Given the description of an element on the screen output the (x, y) to click on. 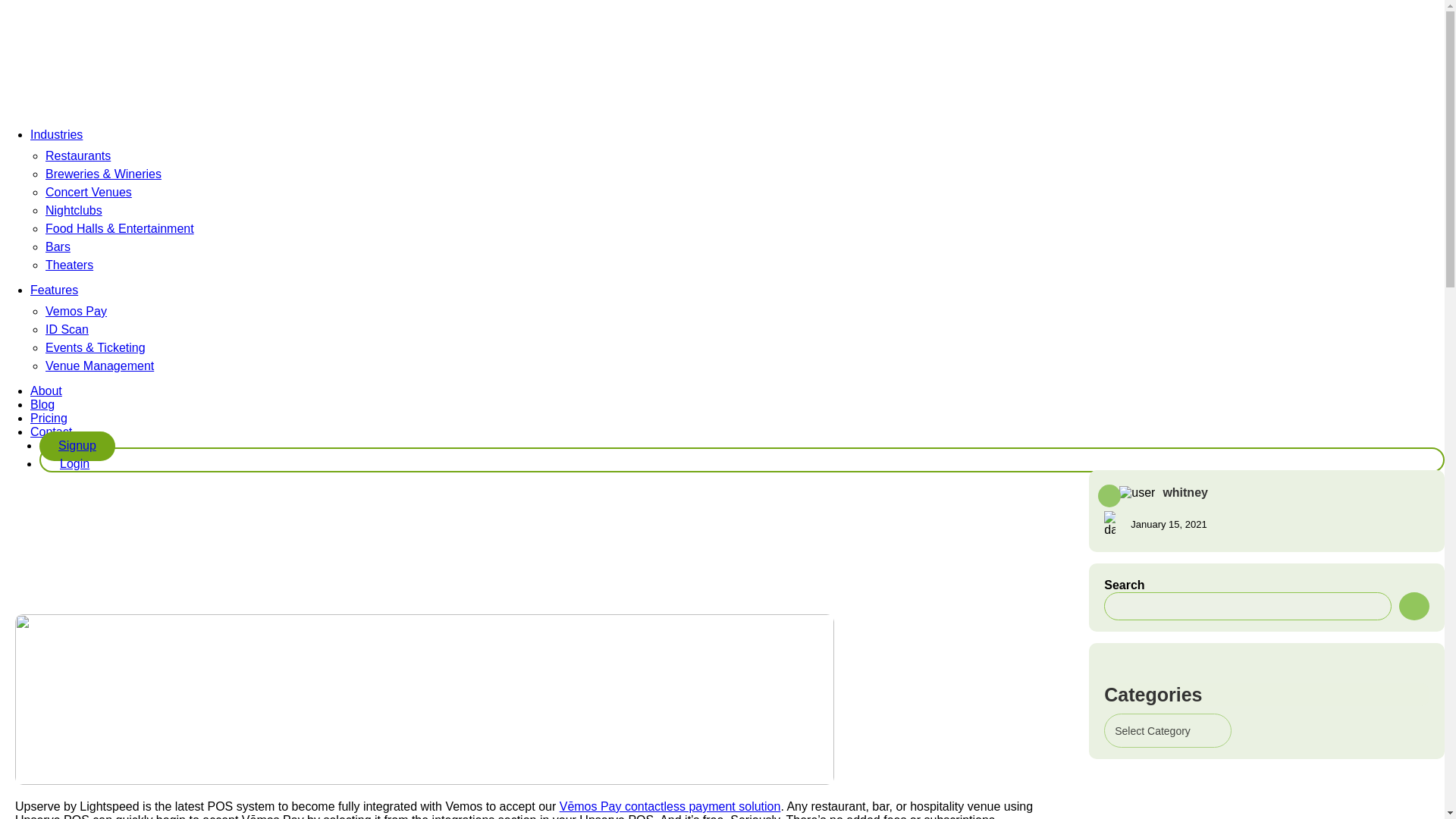
Restaurants (77, 155)
Industries (56, 133)
ID Scan (66, 328)
Features (54, 289)
Nightclubs (73, 210)
Vemos Pay (75, 310)
Theaters (69, 264)
Venue Management (99, 365)
Concert Venues (88, 192)
Bars (57, 246)
